Given the description of an element on the screen output the (x, y) to click on. 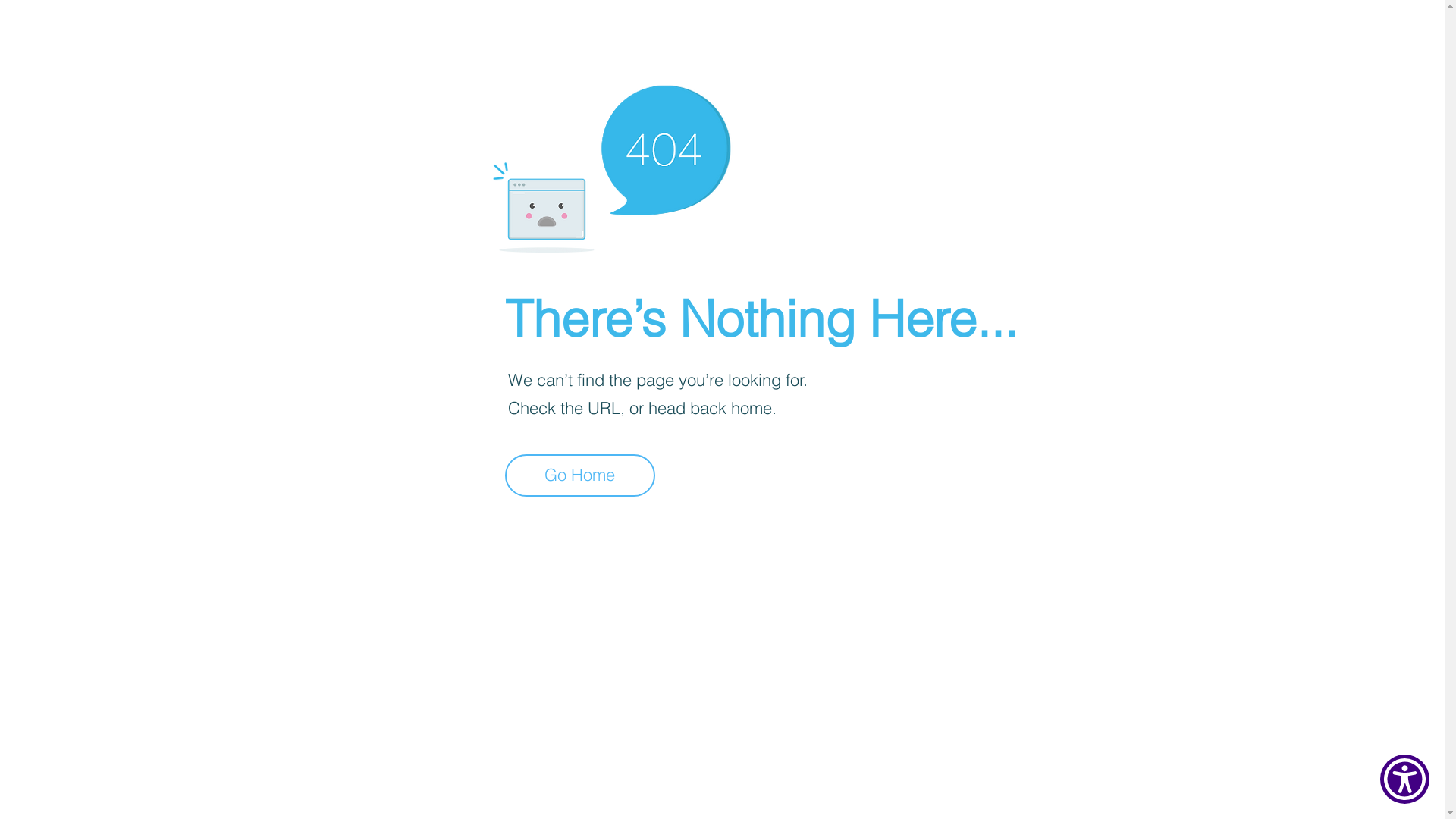
404-icon_2.png Element type: hover (610, 164)
Go Home Element type: text (580, 475)
